Given the description of an element on the screen output the (x, y) to click on. 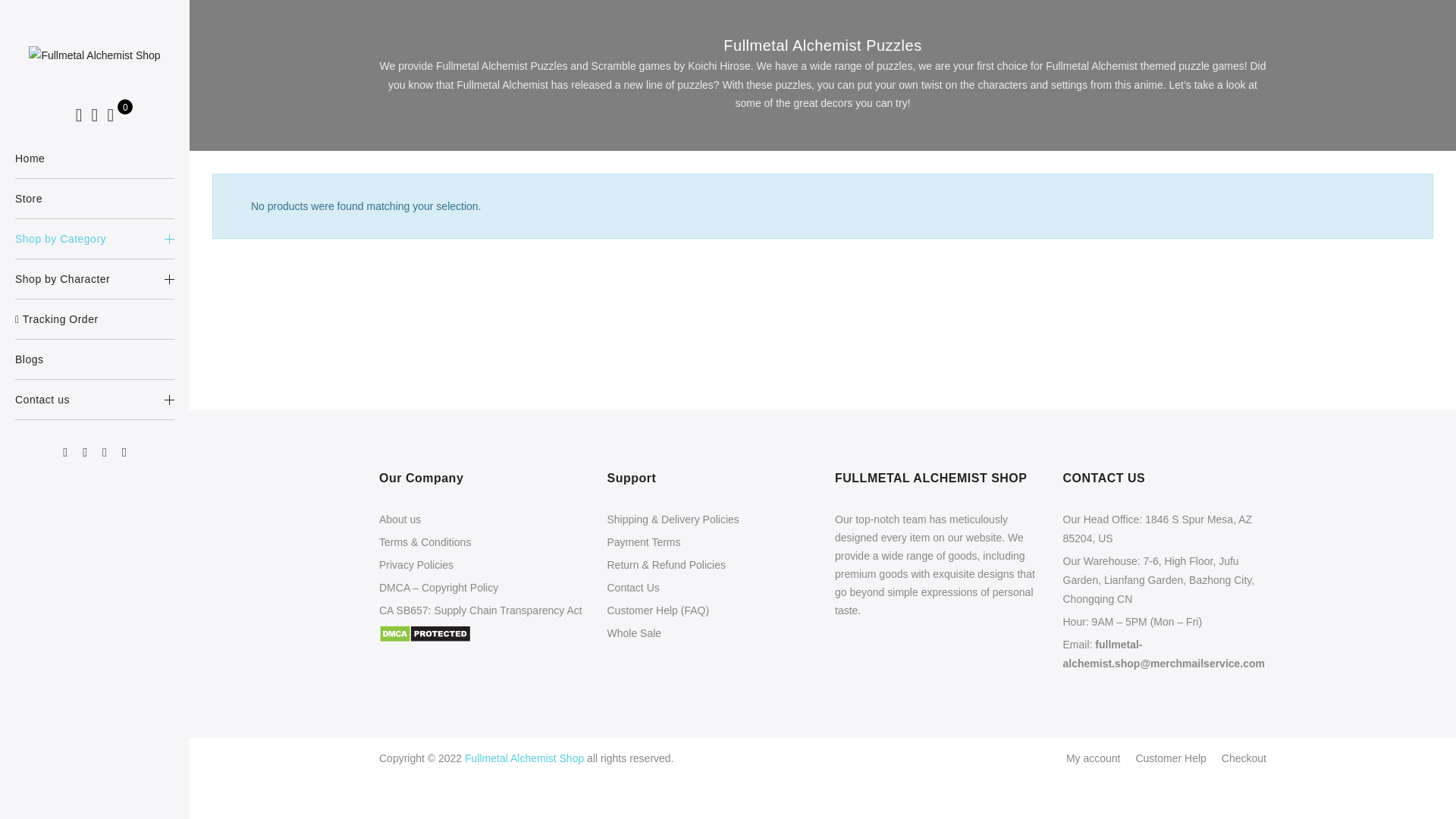
Store (94, 198)
0 (109, 115)
DMCA.com Protection Status (424, 633)
View your shopping cart (109, 115)
Search (79, 115)
Shop by Category (94, 238)
Home (94, 158)
